Given the description of an element on the screen output the (x, y) to click on. 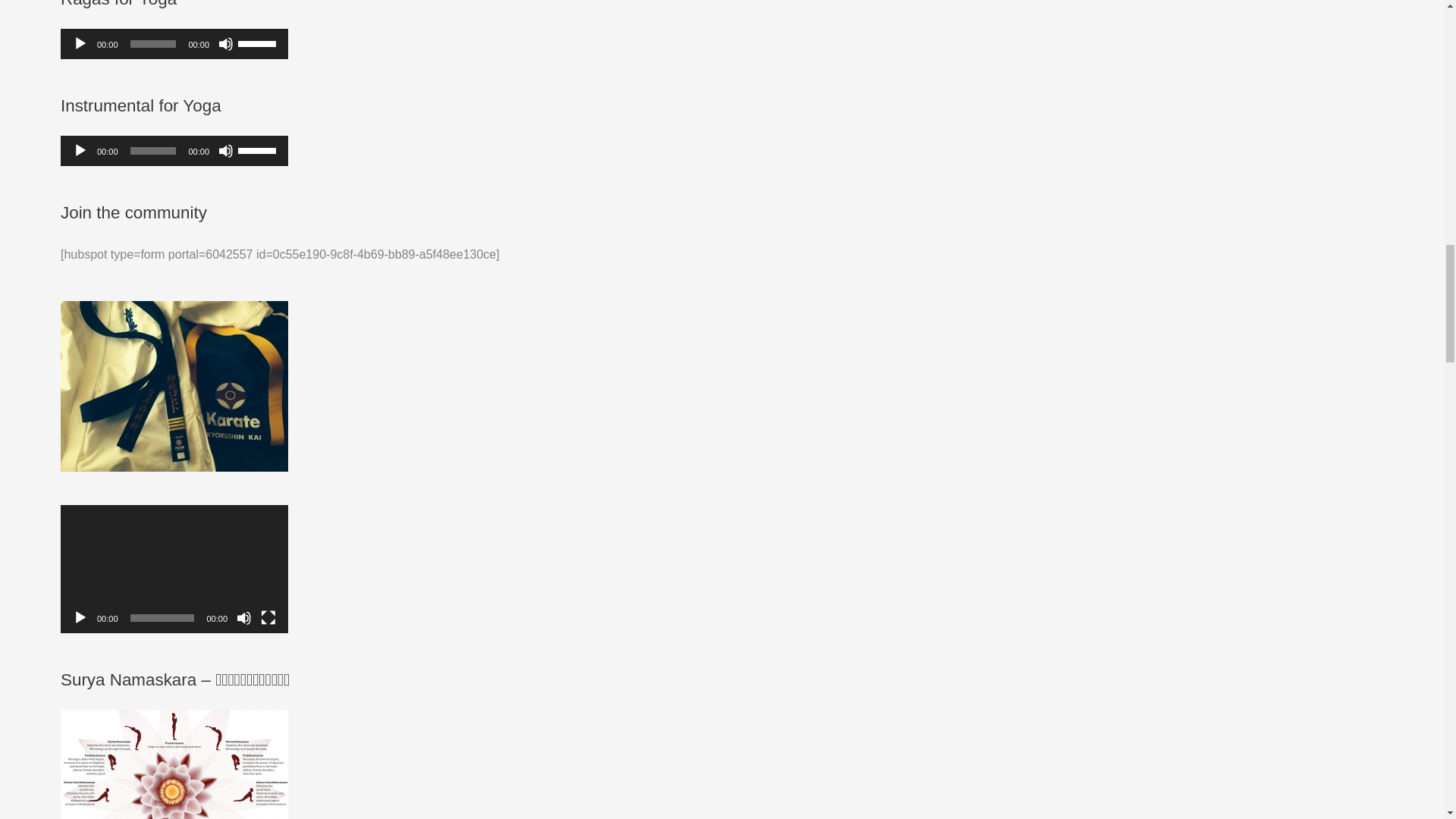
Mute (225, 150)
Play (79, 43)
Mute (243, 617)
Fullscreen (268, 617)
Play (79, 150)
Play (79, 617)
Mute (225, 43)
